Given the description of an element on the screen output the (x, y) to click on. 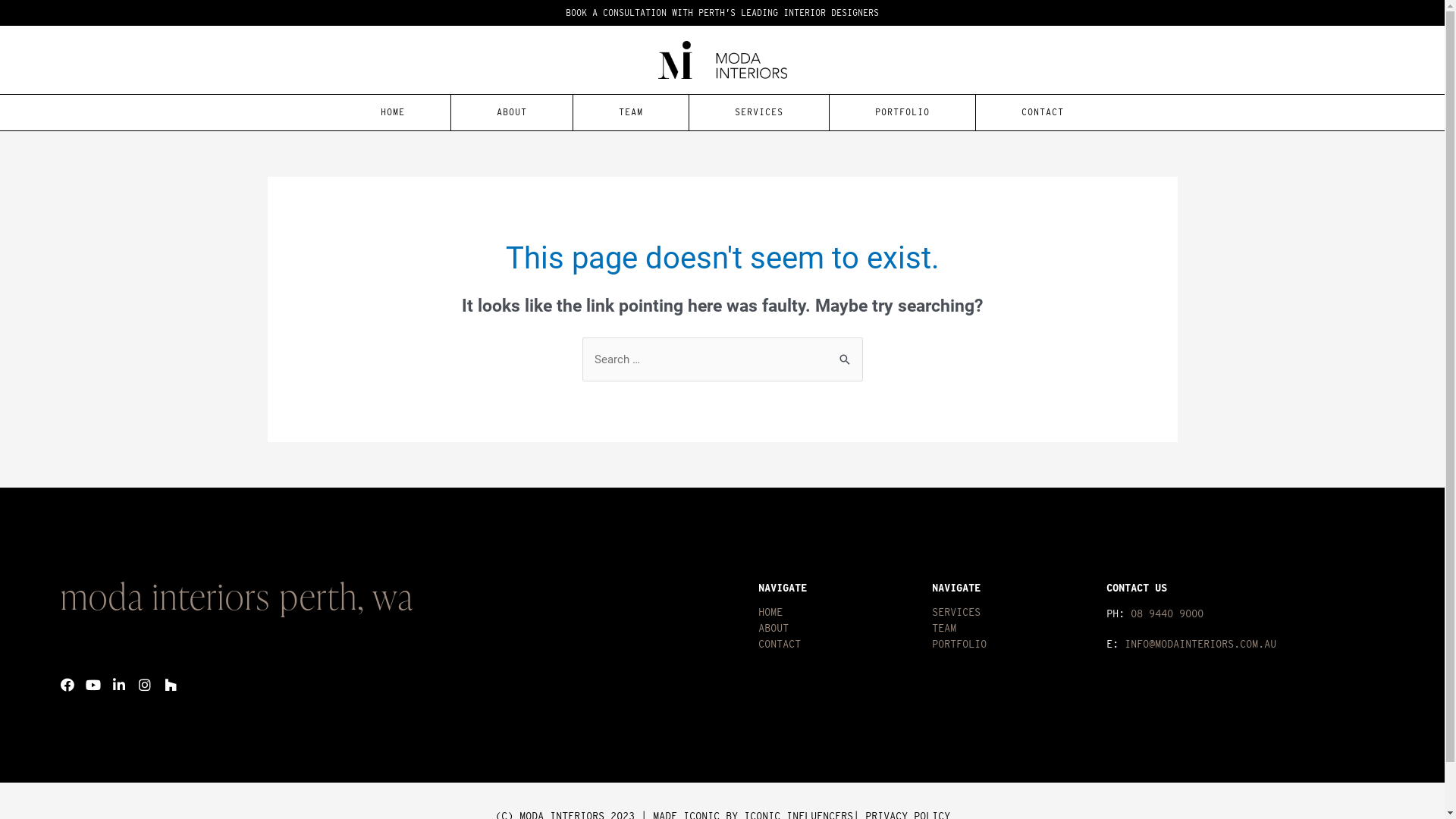
Linkedin-in Element type: text (118, 684)
TEAM Element type: text (1010, 628)
ABOUT Element type: text (837, 628)
SERVICES Element type: text (758, 111)
PORTFOLIO Element type: text (902, 111)
HOME Element type: text (837, 612)
INFO@MODAINTERIORS.COM.AU Element type: text (1200, 643)
TEAM Element type: text (630, 111)
ABOUT Element type: text (511, 111)
Youtube Element type: text (93, 684)
08 9440 9000 Element type: text (1166, 613)
Houzz Element type: text (170, 684)
Search Element type: text (845, 352)
Instagram Element type: text (144, 684)
CONTACT Element type: text (1042, 111)
PORTFOLIO Element type: text (1010, 644)
HOME Element type: text (392, 111)
CONTACT Element type: text (837, 644)
SERVICES Element type: text (1010, 612)
Facebook Element type: text (67, 684)
